Given the description of an element on the screen output the (x, y) to click on. 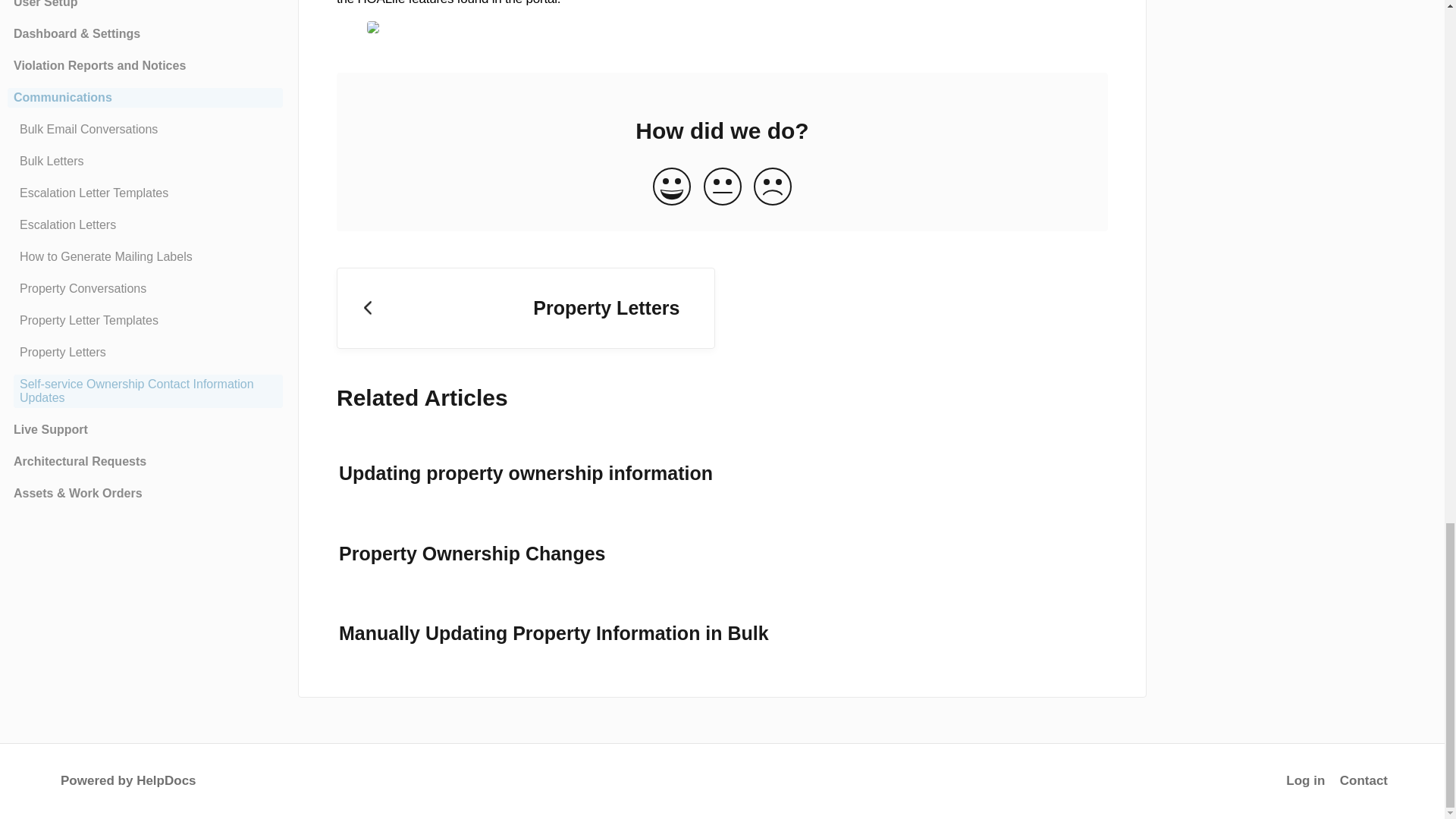
Powered by HelpDocs (124, 780)
